Given the description of an element on the screen output the (x, y) to click on. 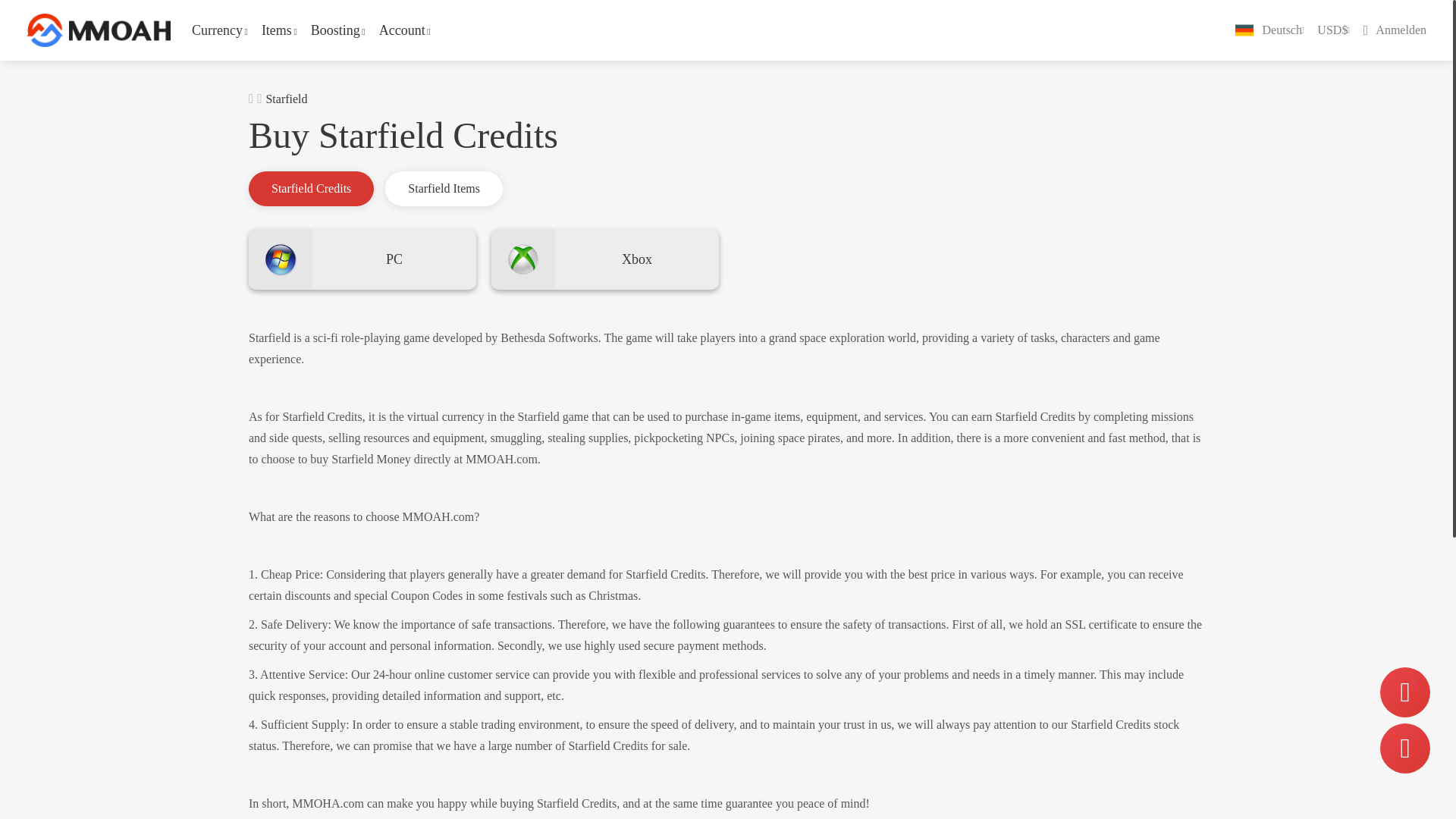
Starfield Items (443, 188)
MMOAH.com (98, 29)
MMOAH (1394, 30)
Starfield Credits (311, 188)
